Given the description of an element on the screen output the (x, y) to click on. 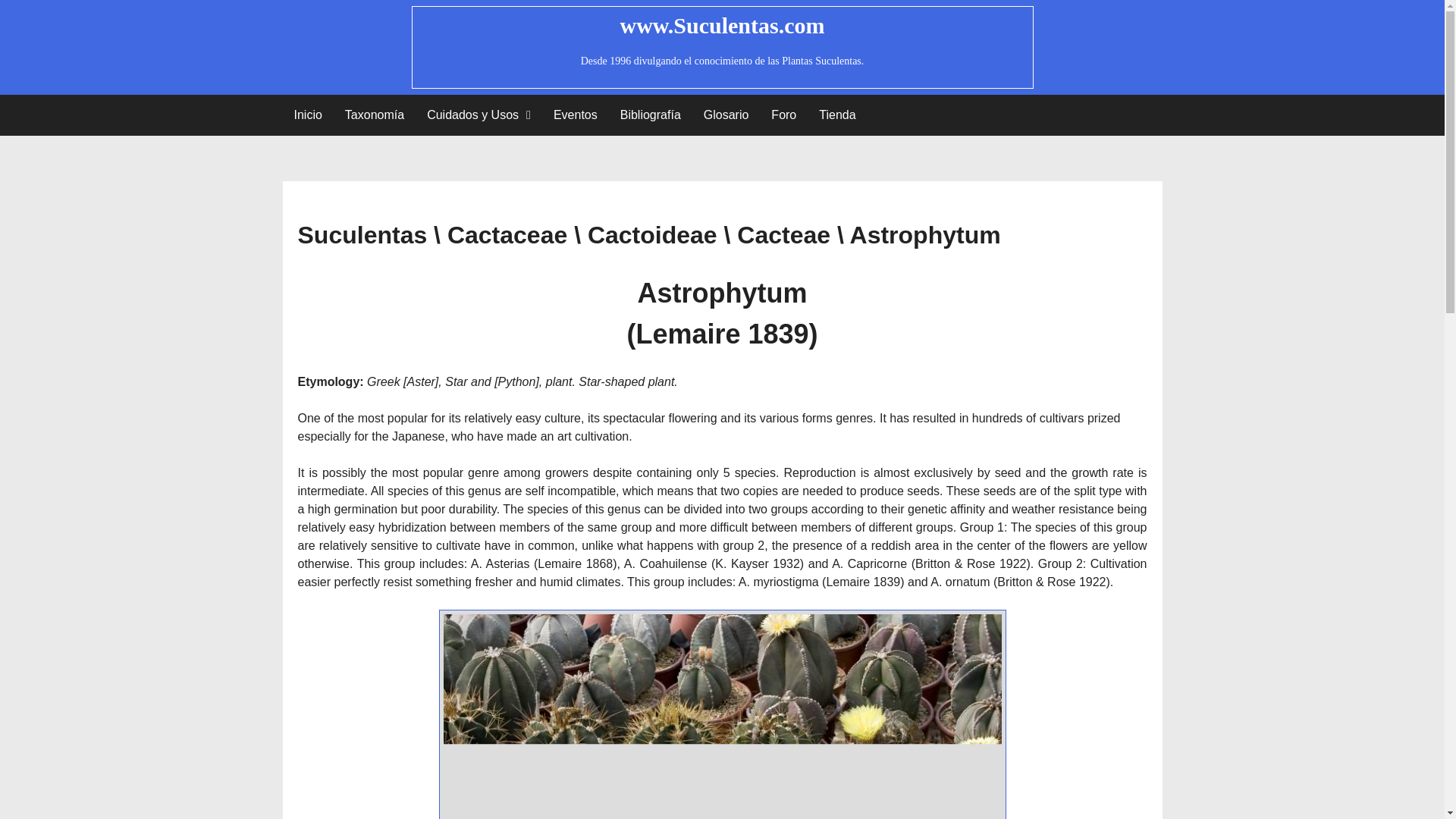
Cactoideae (652, 234)
Cacteae (782, 234)
Cactaceae (506, 234)
www.Suculentas.com (722, 25)
Inicio (307, 115)
Foro (784, 115)
Cuidados y Usos (477, 115)
Suculentas (361, 234)
Glosario (726, 115)
